Given the description of an element on the screen output the (x, y) to click on. 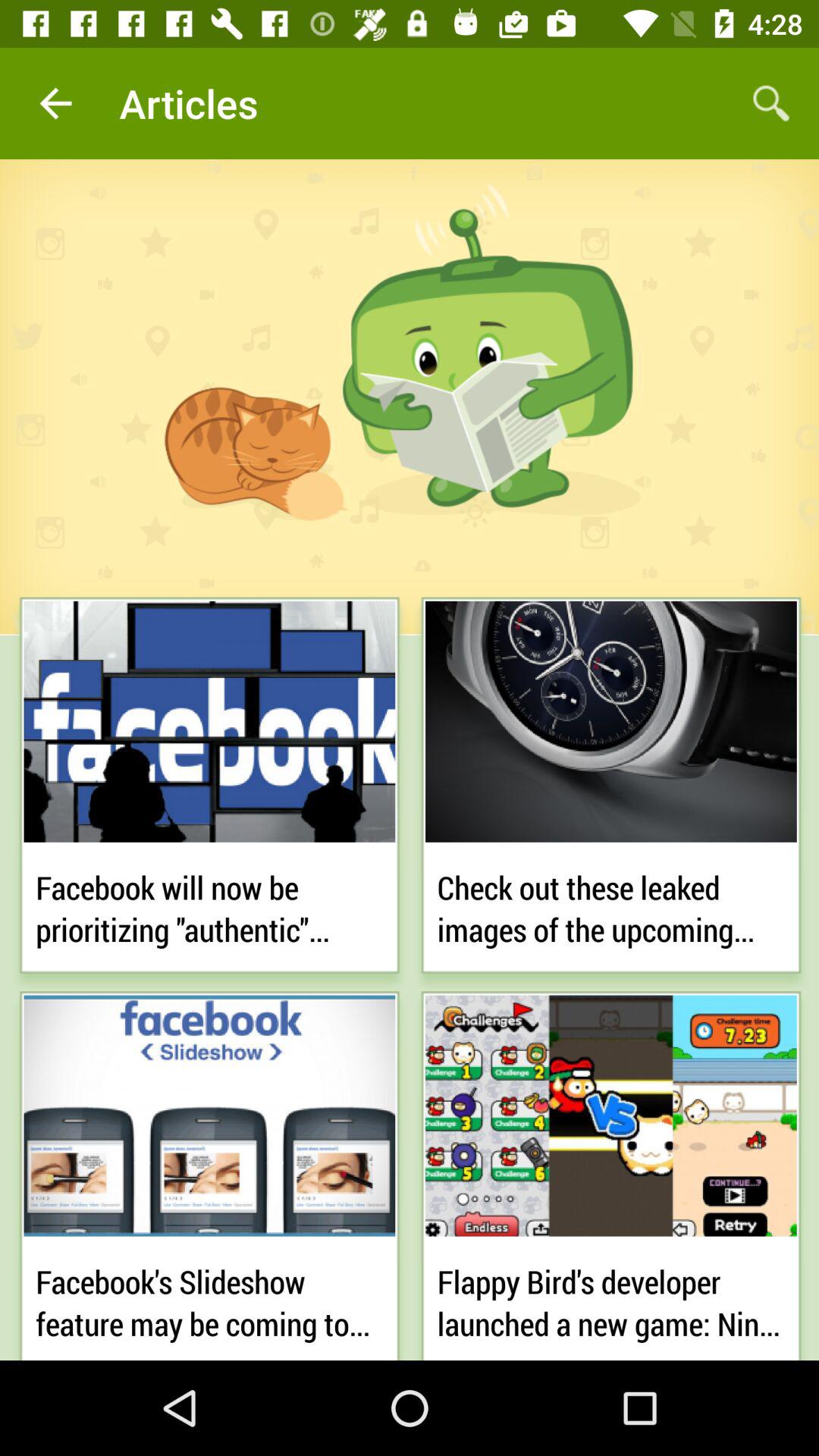
scroll until facebook will now (209, 905)
